Given the description of an element on the screen output the (x, y) to click on. 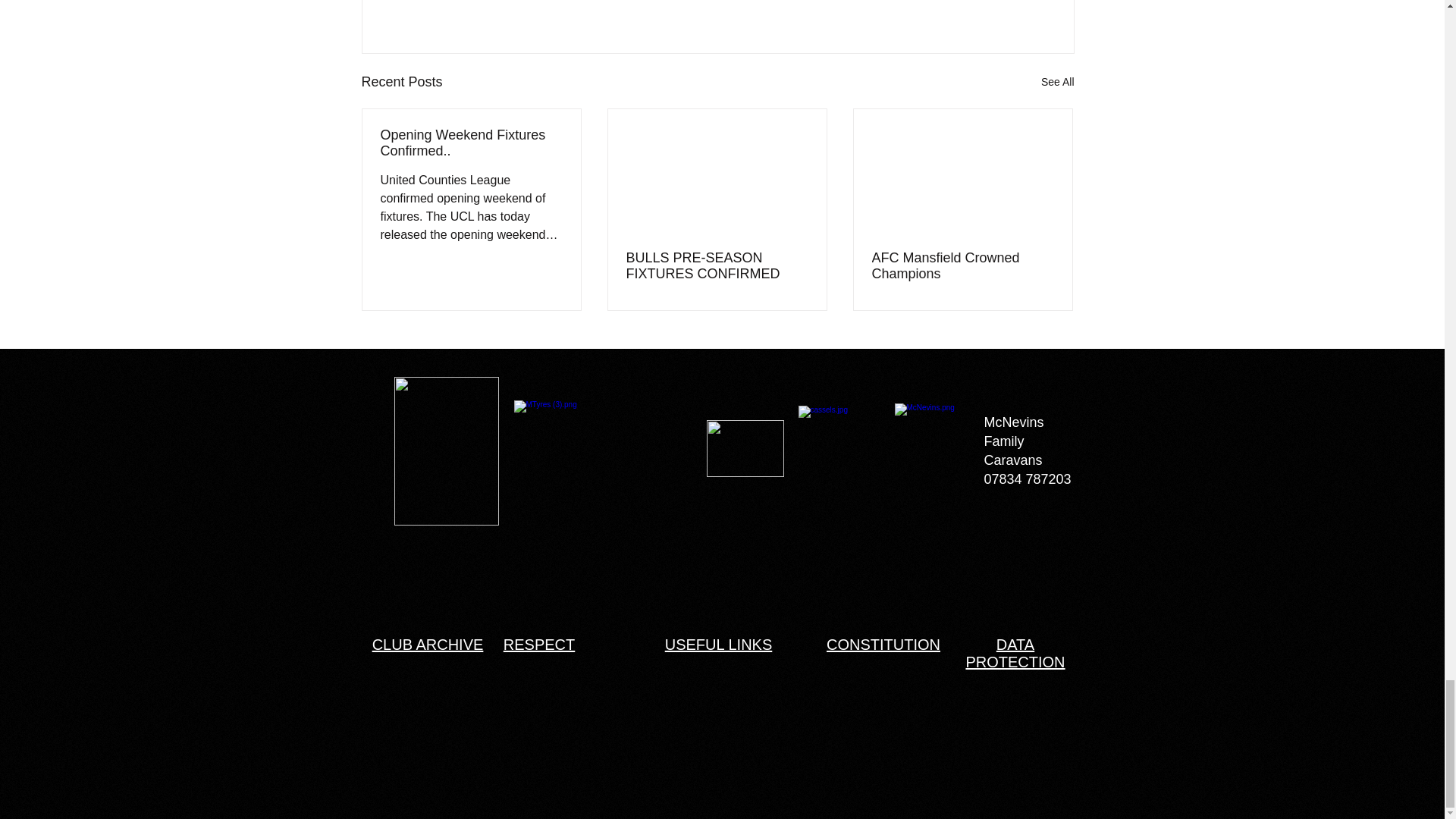
Opening Weekend Fixtures Confirmed.. (471, 142)
See All (1057, 82)
